Given the description of an element on the screen output the (x, y) to click on. 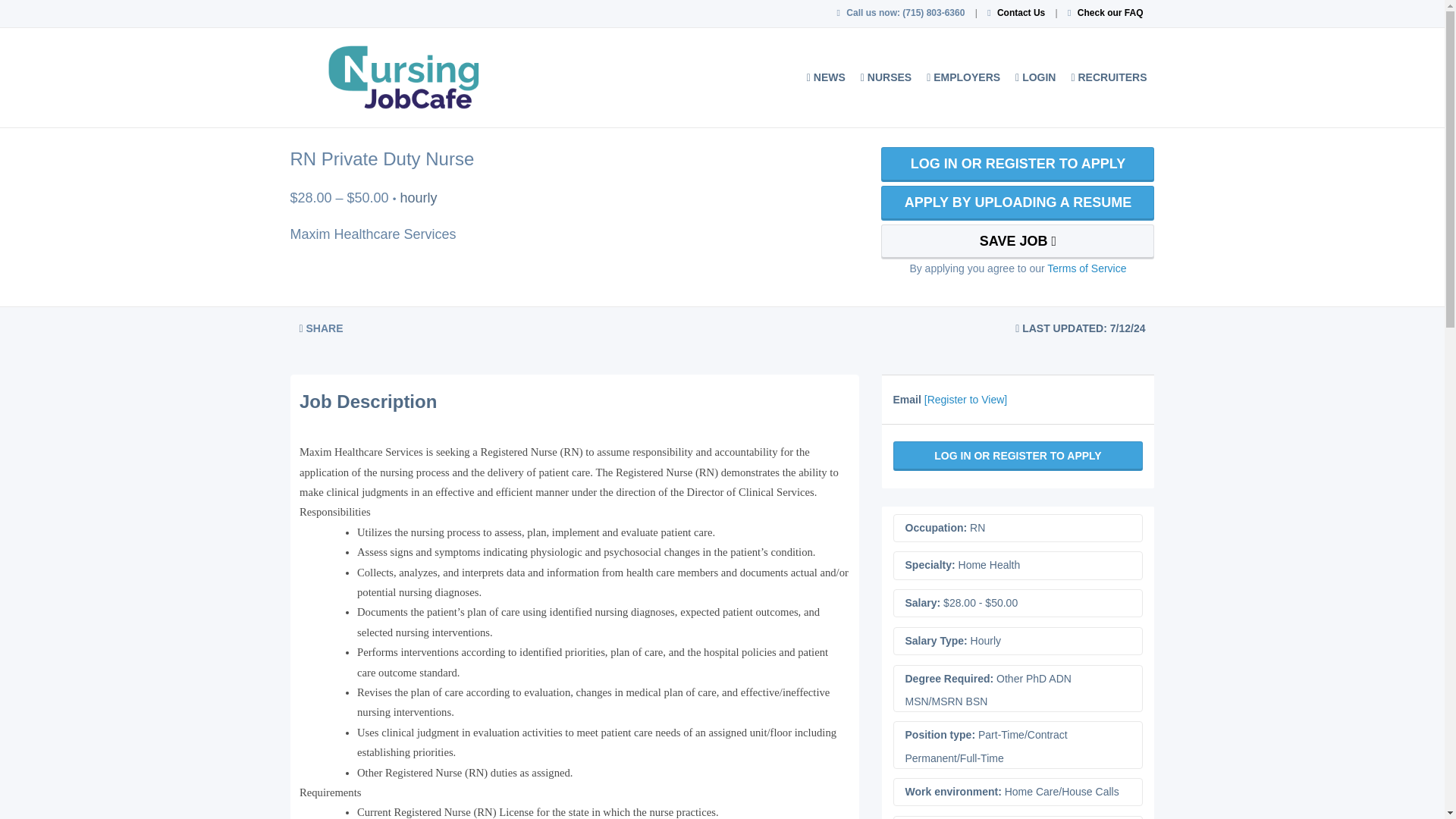
EMPLOYERS (962, 77)
Contact Us (1021, 12)
Check our FAQ (1109, 12)
APPLY BY UPLOADING A RESUME (1017, 202)
SHARE (320, 328)
Terms of Service (1085, 268)
SAVE JOB (1017, 241)
LOG IN OR REGISTER TO APPLY (1017, 164)
RECRUITERS (1108, 77)
LOG IN OR REGISTER TO APPLY (1017, 455)
